Given the description of an element on the screen output the (x, y) to click on. 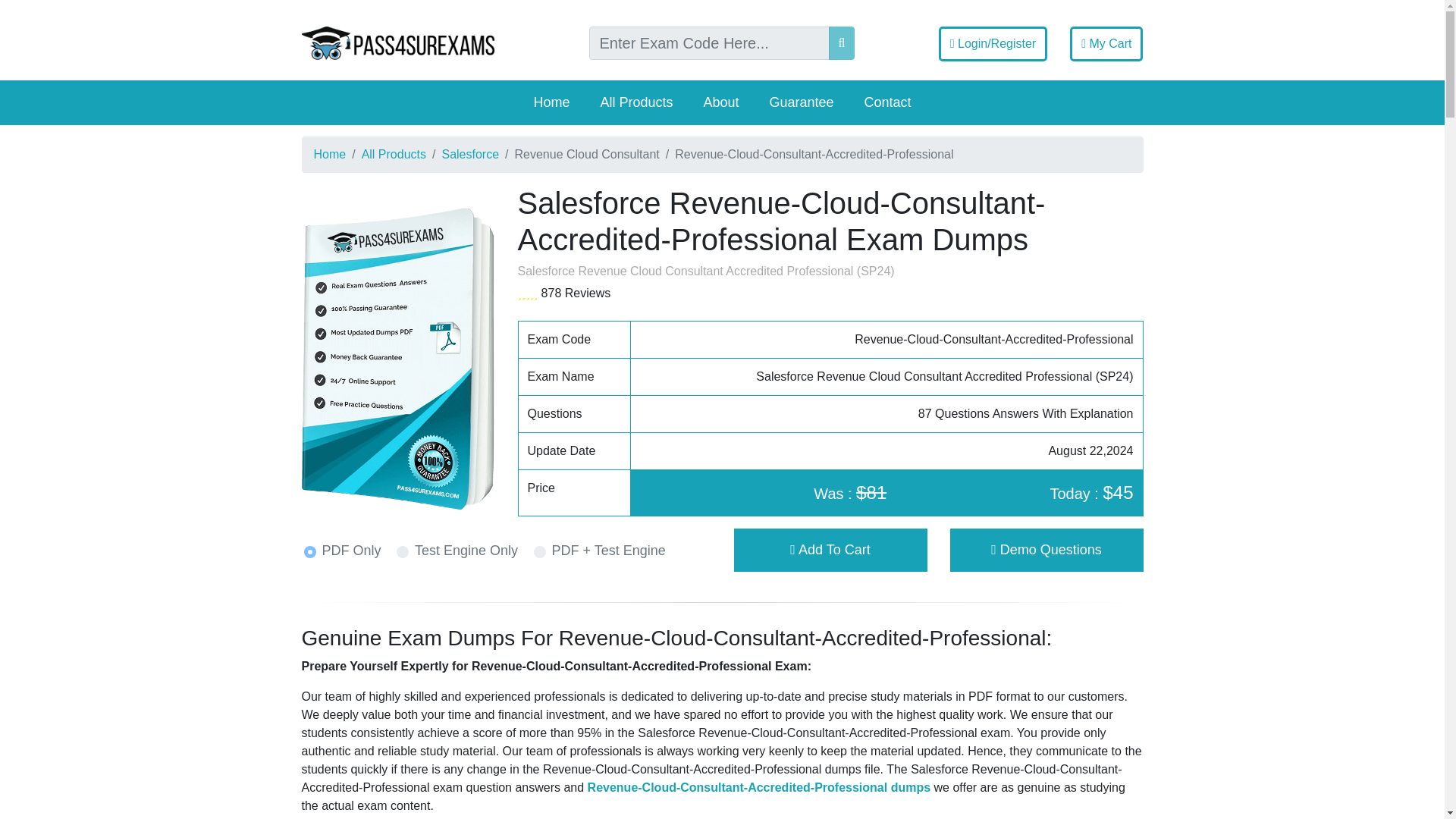
Guarantee (801, 102)
Home (330, 154)
All Products (636, 102)
Salesforce (470, 154)
My Cart (1106, 43)
Add To Cart (830, 549)
Demo Questions (1045, 549)
All Products (393, 154)
Pass4surexams Logo (398, 42)
About (720, 102)
